Given the description of an element on the screen output the (x, y) to click on. 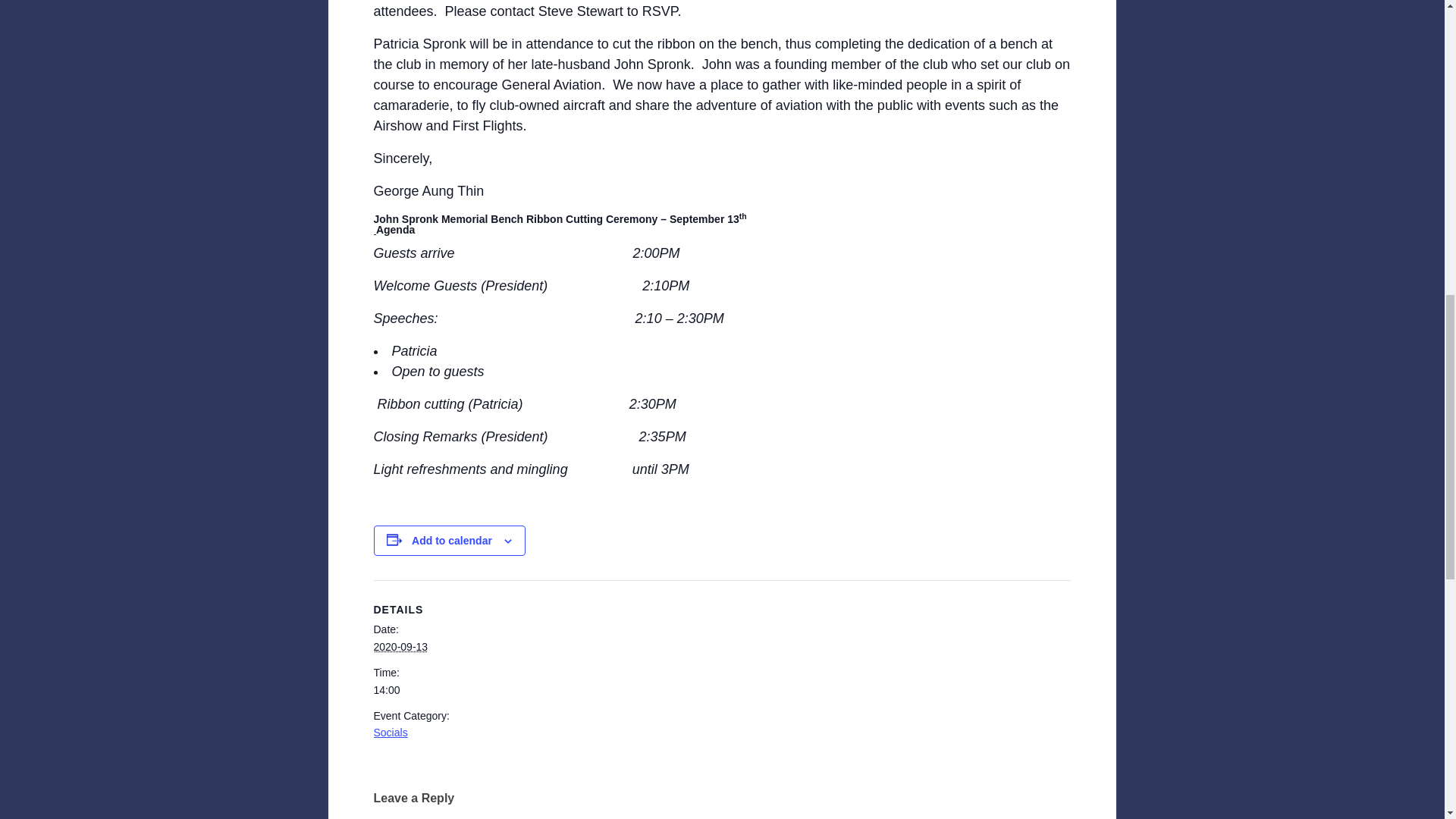
2020-09-13 (400, 646)
2020-09-13 (436, 689)
